Given the description of an element on the screen output the (x, y) to click on. 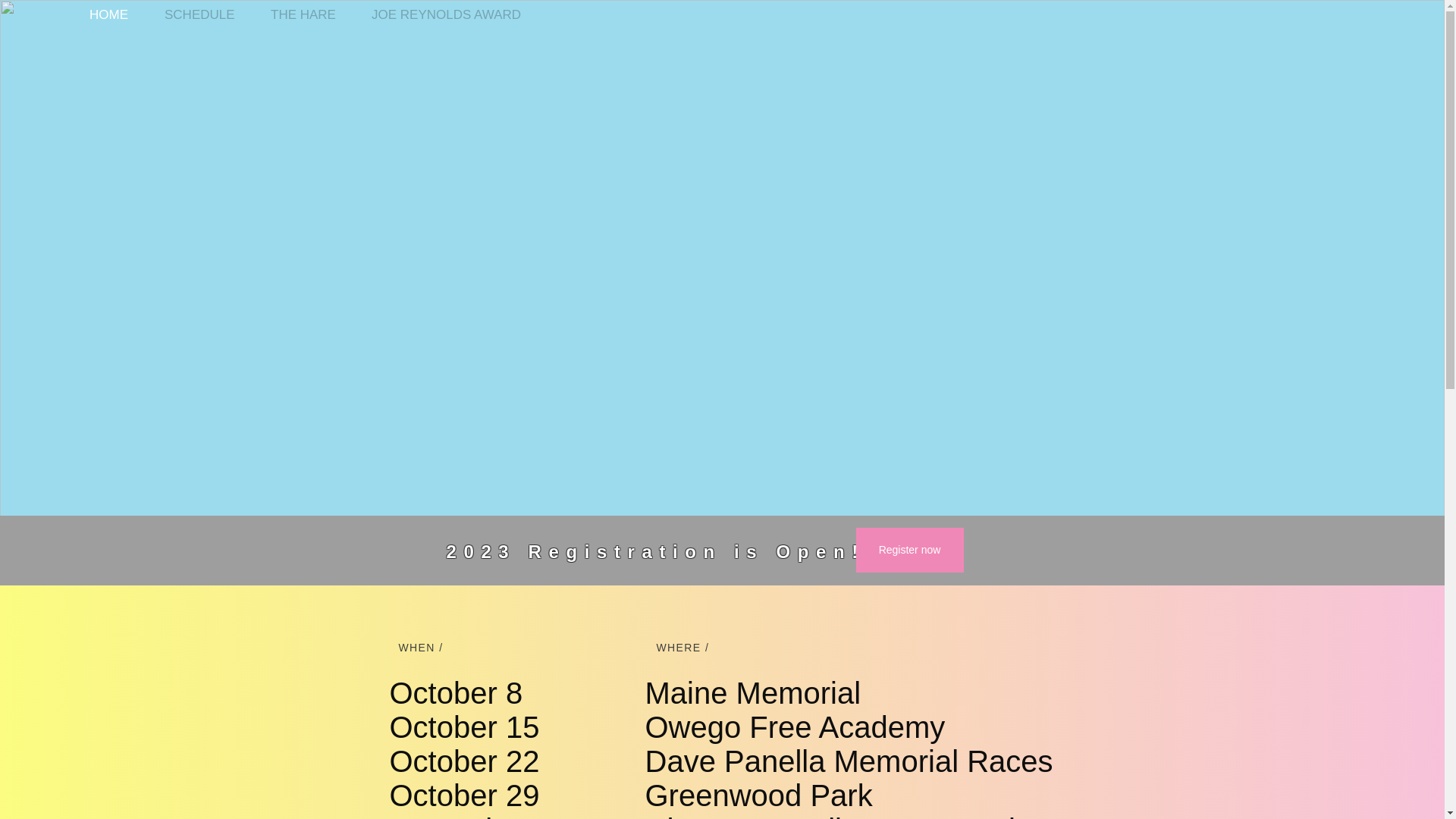
HOME (115, 14)
Register now (909, 549)
THE HARE (309, 14)
JOE REYNOLDS AWARD (451, 14)
SCHEDULE (205, 14)
